Given the description of an element on the screen output the (x, y) to click on. 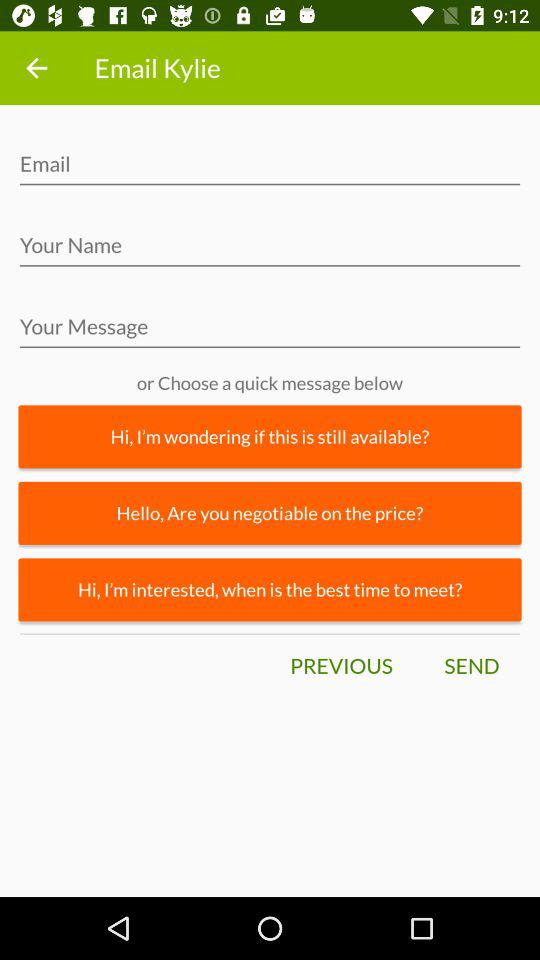
click send (471, 666)
